Given the description of an element on the screen output the (x, y) to click on. 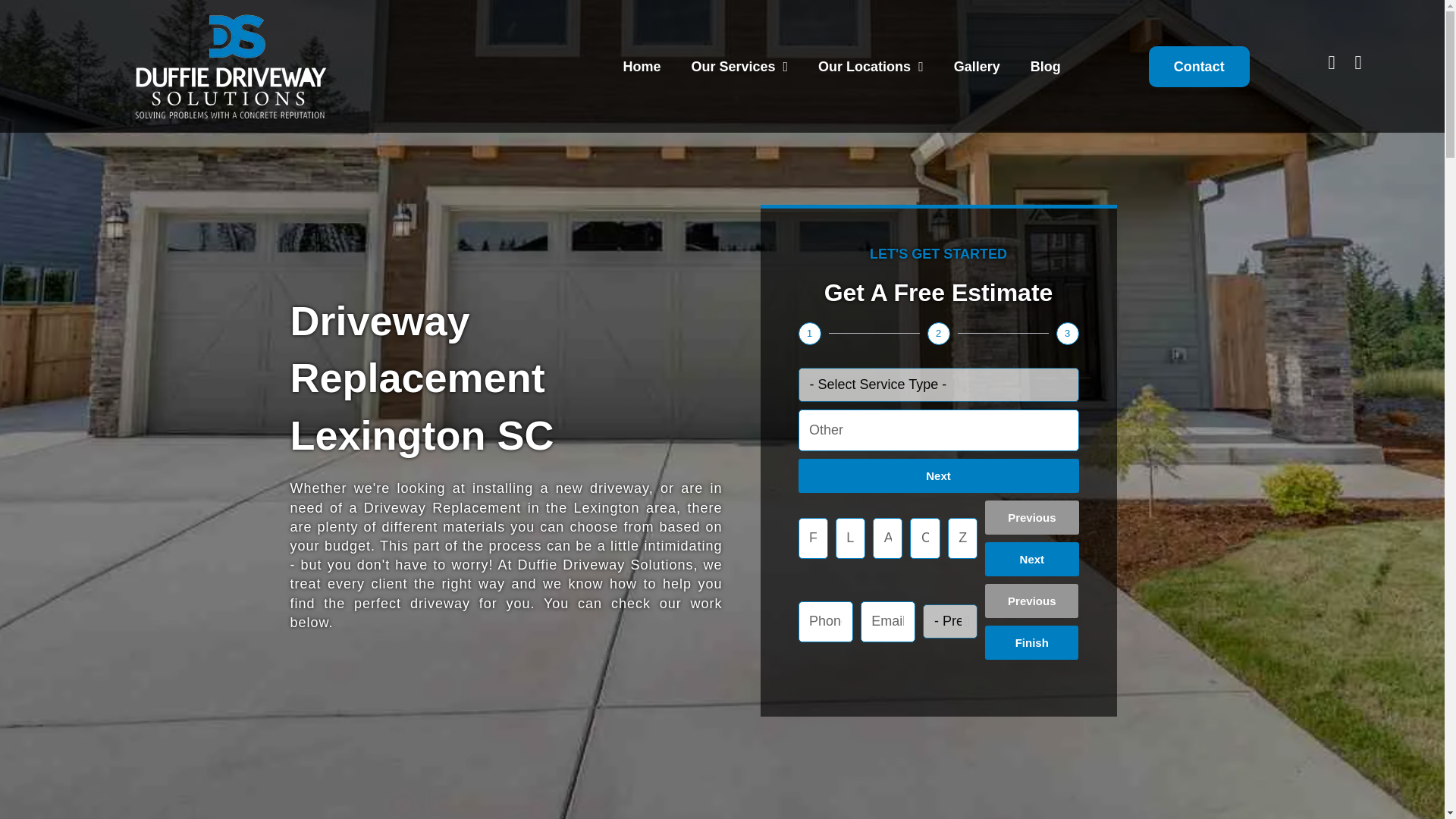
Facebook (1335, 63)
Contact (1198, 63)
Blog (1044, 45)
Previous (1031, 600)
Next (937, 475)
Next (1031, 559)
Our Locations (871, 30)
Instagram (1362, 64)
Finish (1031, 642)
Previous (1031, 517)
Gallery (976, 43)
Our Services (739, 22)
Home (641, 20)
